Given the description of an element on the screen output the (x, y) to click on. 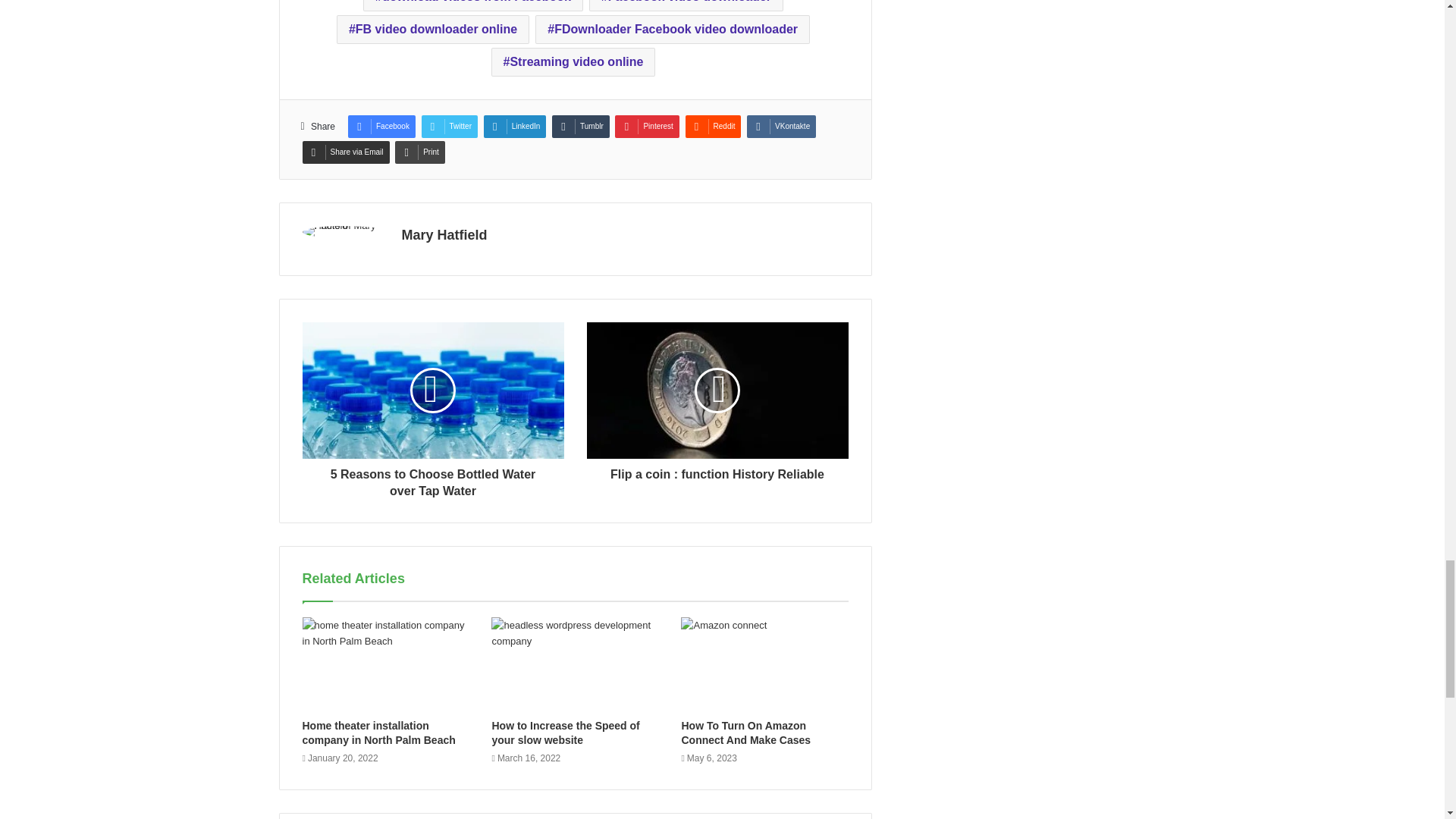
Streaming video online (574, 61)
FB video downloader online (432, 29)
download videos from Facebook (472, 5)
FDownloader Facebook video downloader (672, 29)
Facebook video downloader (686, 5)
